Given the description of an element on the screen output the (x, y) to click on. 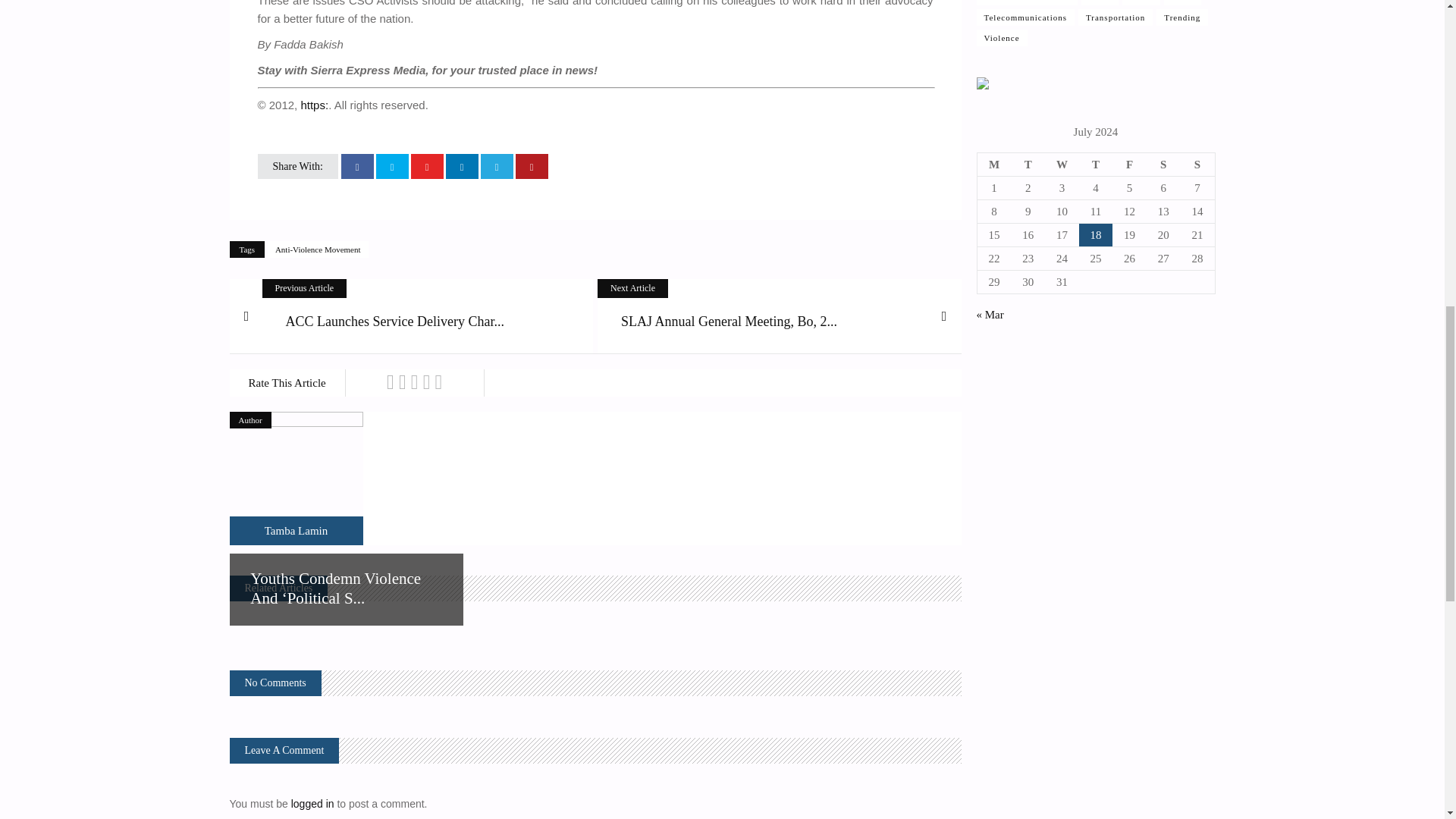
Friday (1129, 164)
Wednesday (1061, 164)
AVM takes Civil Society Activists to task (295, 478)
Tuesday (1028, 164)
Monday (993, 164)
Internet Programming Solutions - A SaloneTech Company (982, 85)
Thursday (1095, 164)
Saturday (1163, 164)
Sunday (1196, 164)
AVM takes Civil Society Activists to task (295, 530)
